Given the description of an element on the screen output the (x, y) to click on. 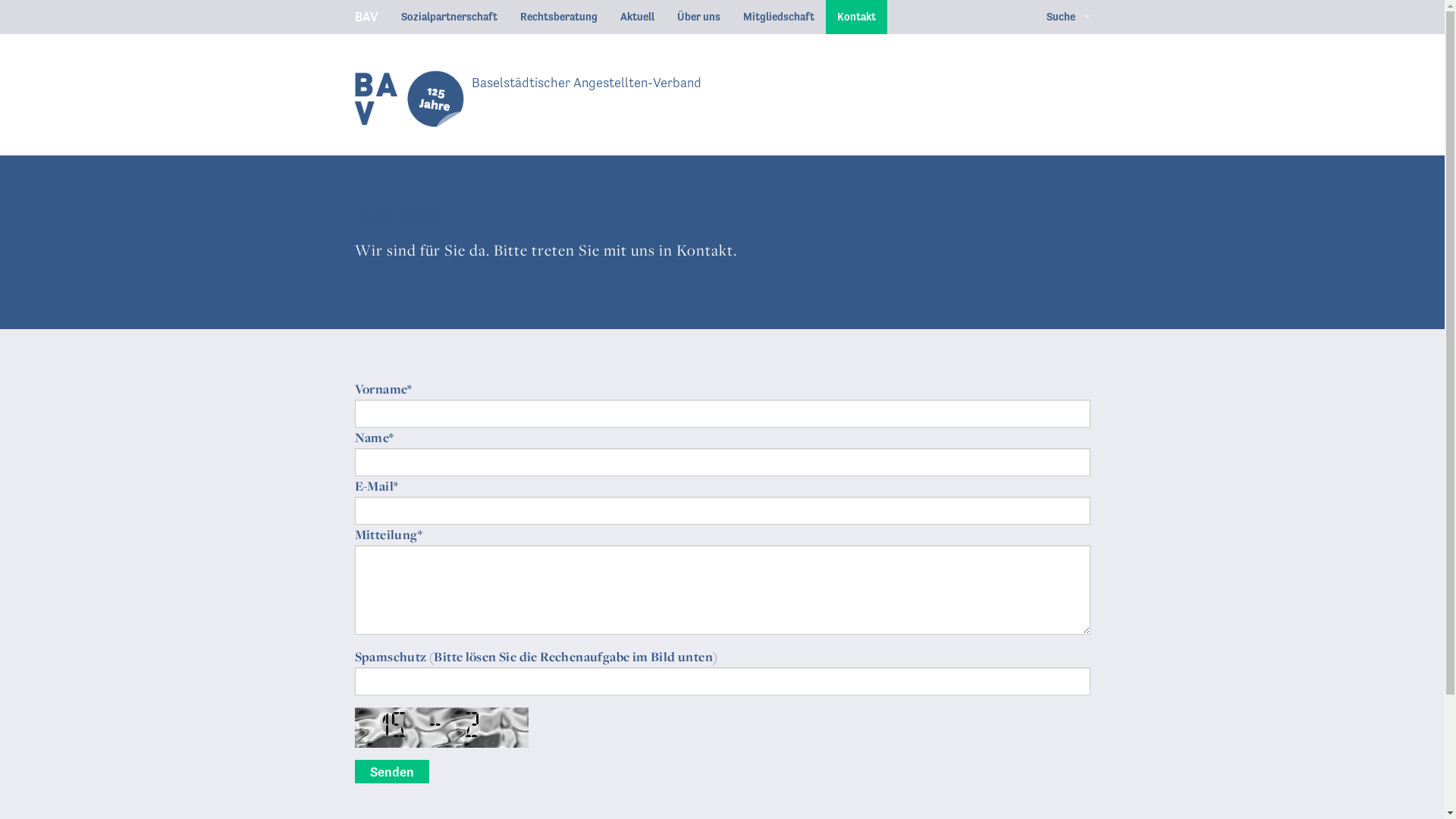
Kontakt Element type: text (855, 17)
Mitgliedschaft Element type: text (778, 17)
BAV Element type: hover (403, 98)
Aktuell Element type: text (636, 17)
Senden Element type: text (391, 771)
Sozialpartnerschaft Element type: text (448, 17)
Suche Element type: text (1067, 17)
BAV Element type: text (365, 17)
Rechtsberatung Element type: text (558, 17)
